Given the description of an element on the screen output the (x, y) to click on. 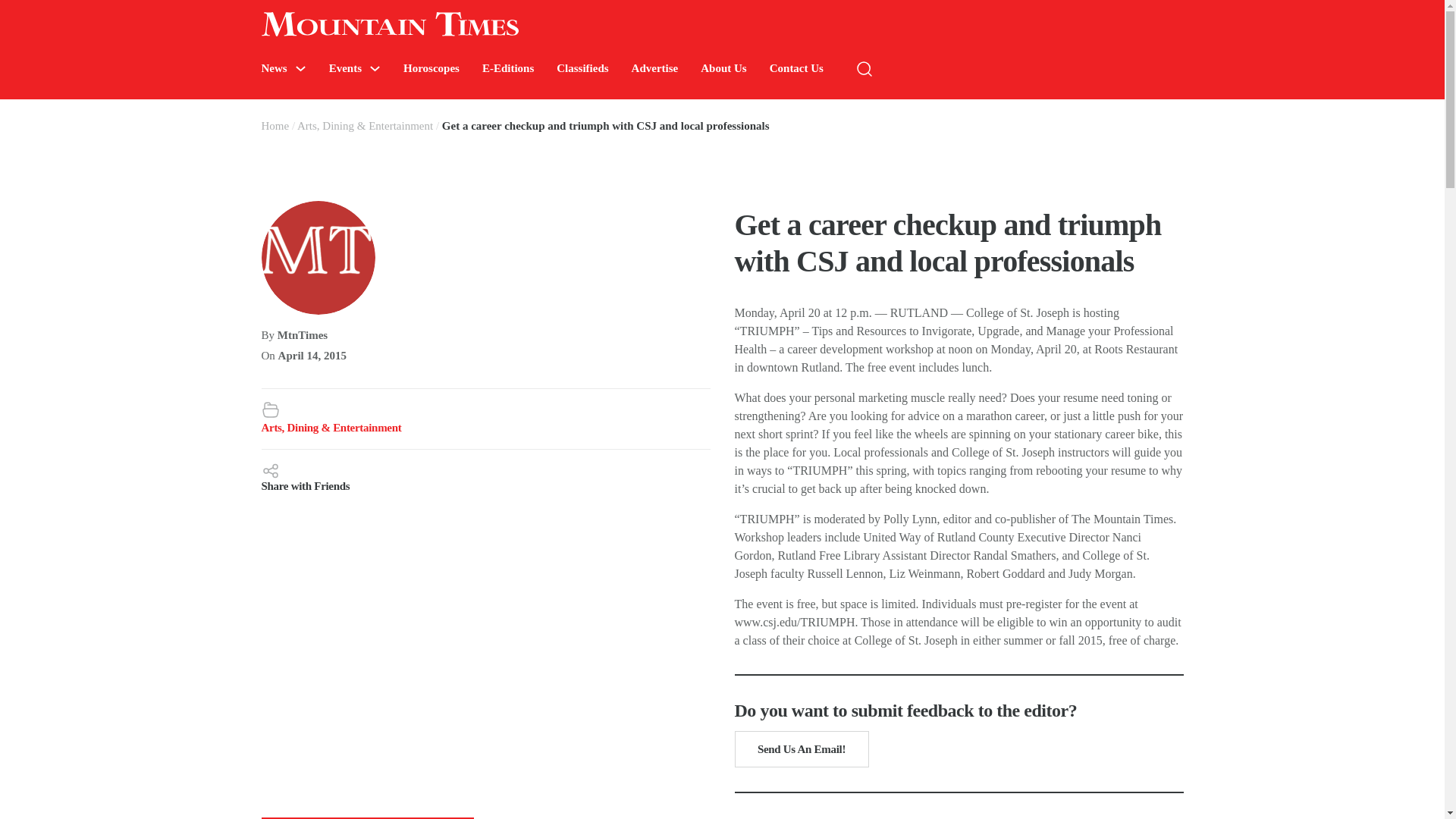
Advertise (654, 67)
Send Us An Email! (800, 749)
About Us (722, 67)
Search (1274, 114)
News (273, 67)
Horoscopes (431, 67)
Home (274, 125)
Classifieds (582, 67)
Contact Us (797, 67)
E-Editions (507, 67)
MtnTimes (302, 335)
Share with Friends (485, 476)
Events (345, 67)
